Given the description of an element on the screen output the (x, y) to click on. 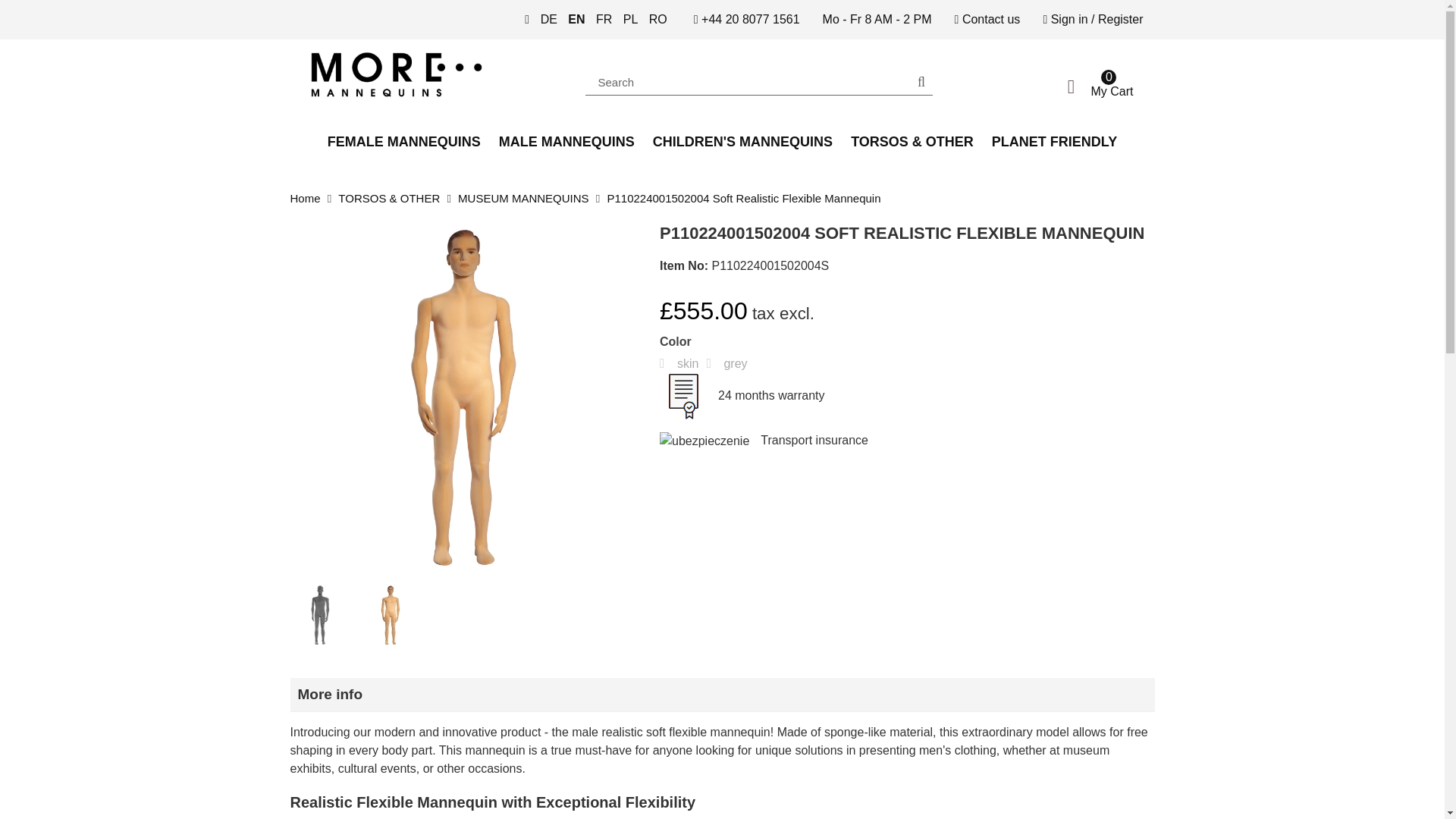
View my shopping cart (1054, 86)
FR (603, 19)
RO (657, 19)
PLANET FRIENDLY (1053, 141)
Log in to your customer account (1092, 19)
P110224001502004 Soft Realistic Flexible Mannequin (743, 197)
MORE Mannequins Ltd. (1054, 86)
Home Page (425, 74)
PL (304, 197)
Contact us (631, 19)
Contact us (987, 19)
RO (987, 19)
DE (657, 19)
CHILDREN'S MANNEQUINS (548, 19)
